Given the description of an element on the screen output the (x, y) to click on. 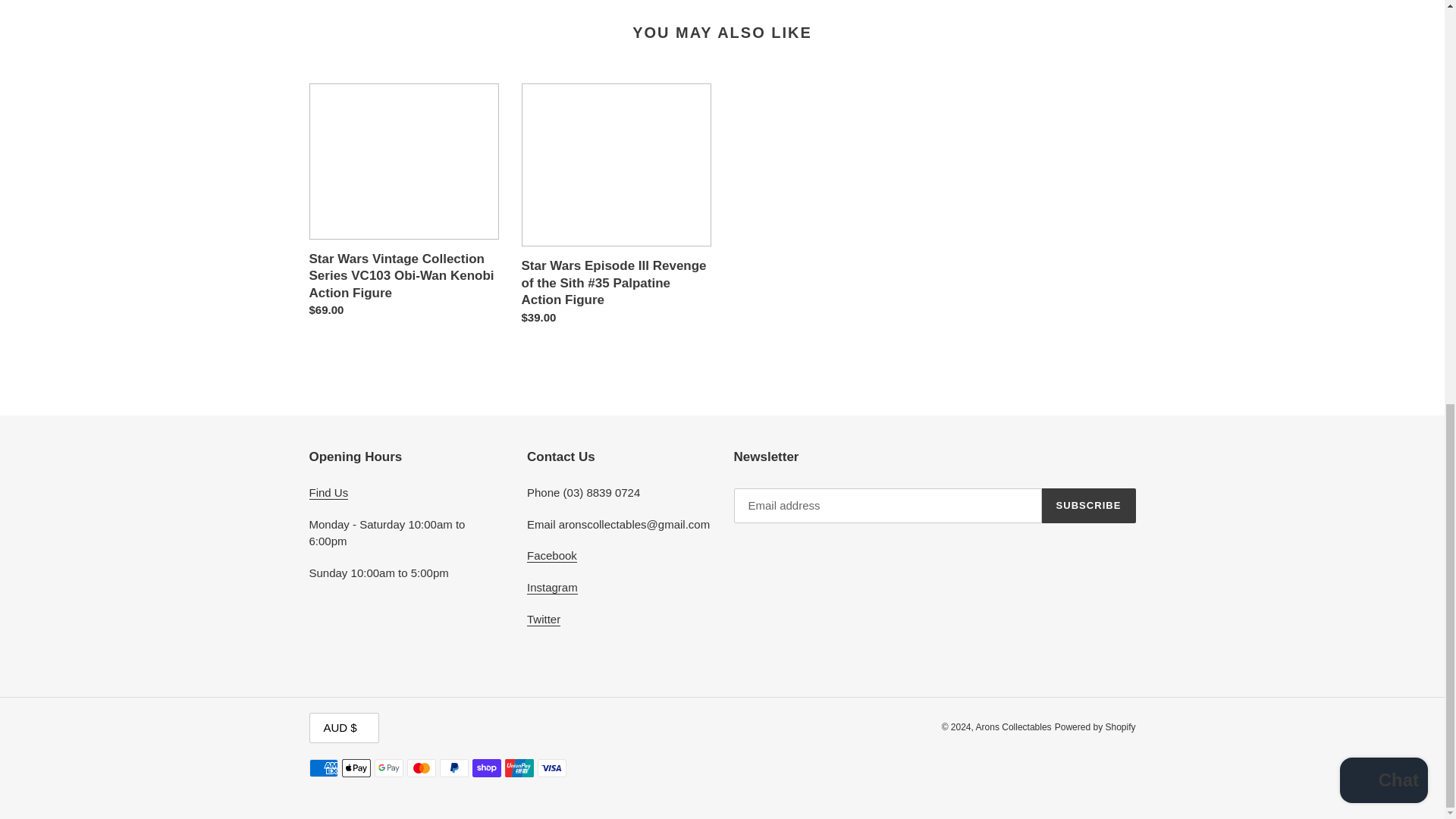
Shopify online store chat (1383, 5)
Find Us (328, 492)
